Given the description of an element on the screen output the (x, y) to click on. 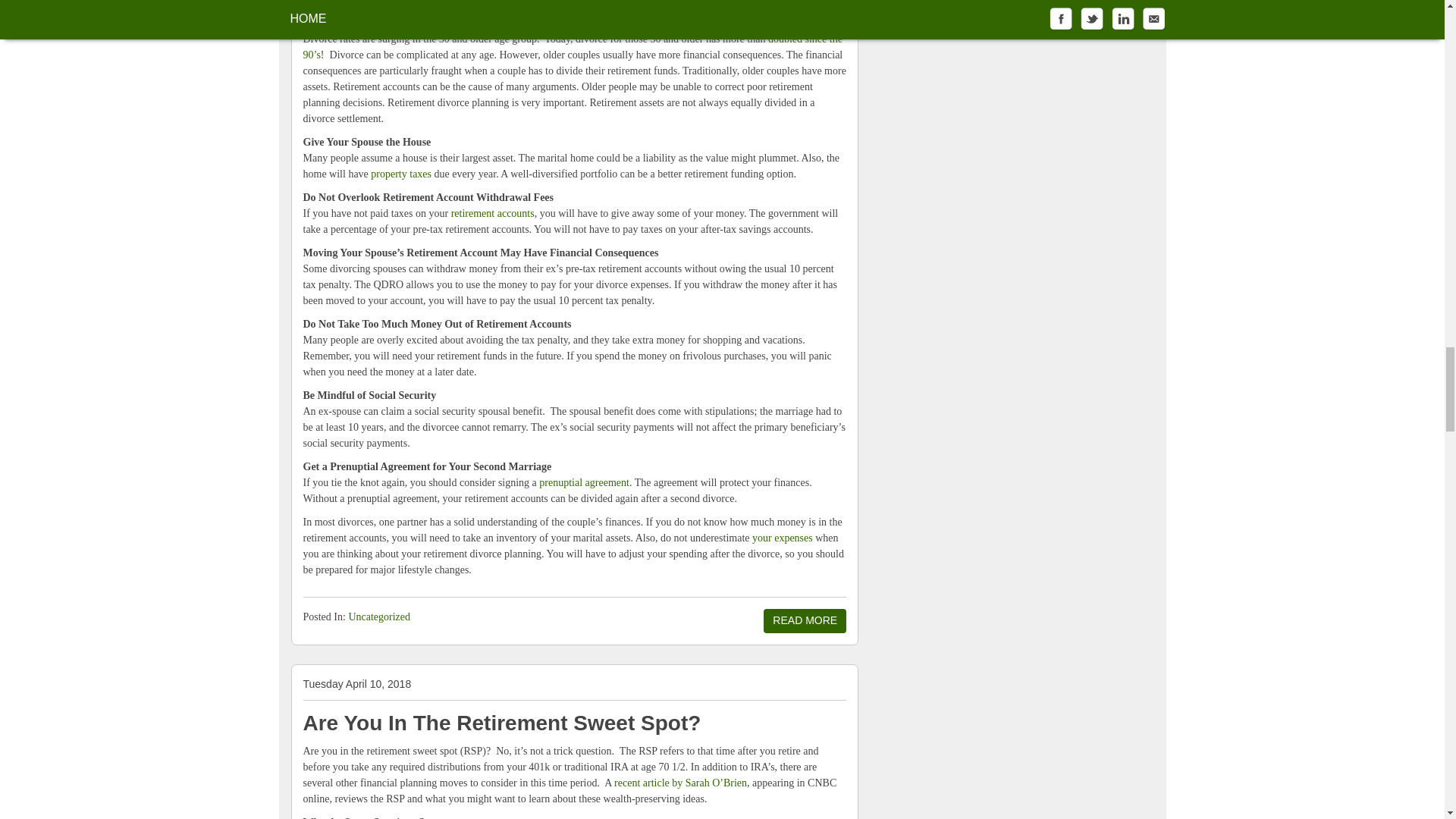
Uncategorized (378, 616)
property taxes (400, 173)
prenuptial agreement (583, 482)
READ MORE (803, 621)
Are You In The Retirement Sweet Spot? (501, 722)
Divorce After 50 and Your Retirement (490, 11)
your expenses (782, 537)
retirement accounts (492, 213)
View all posts in Uncategorized (378, 616)
